Given the description of an element on the screen output the (x, y) to click on. 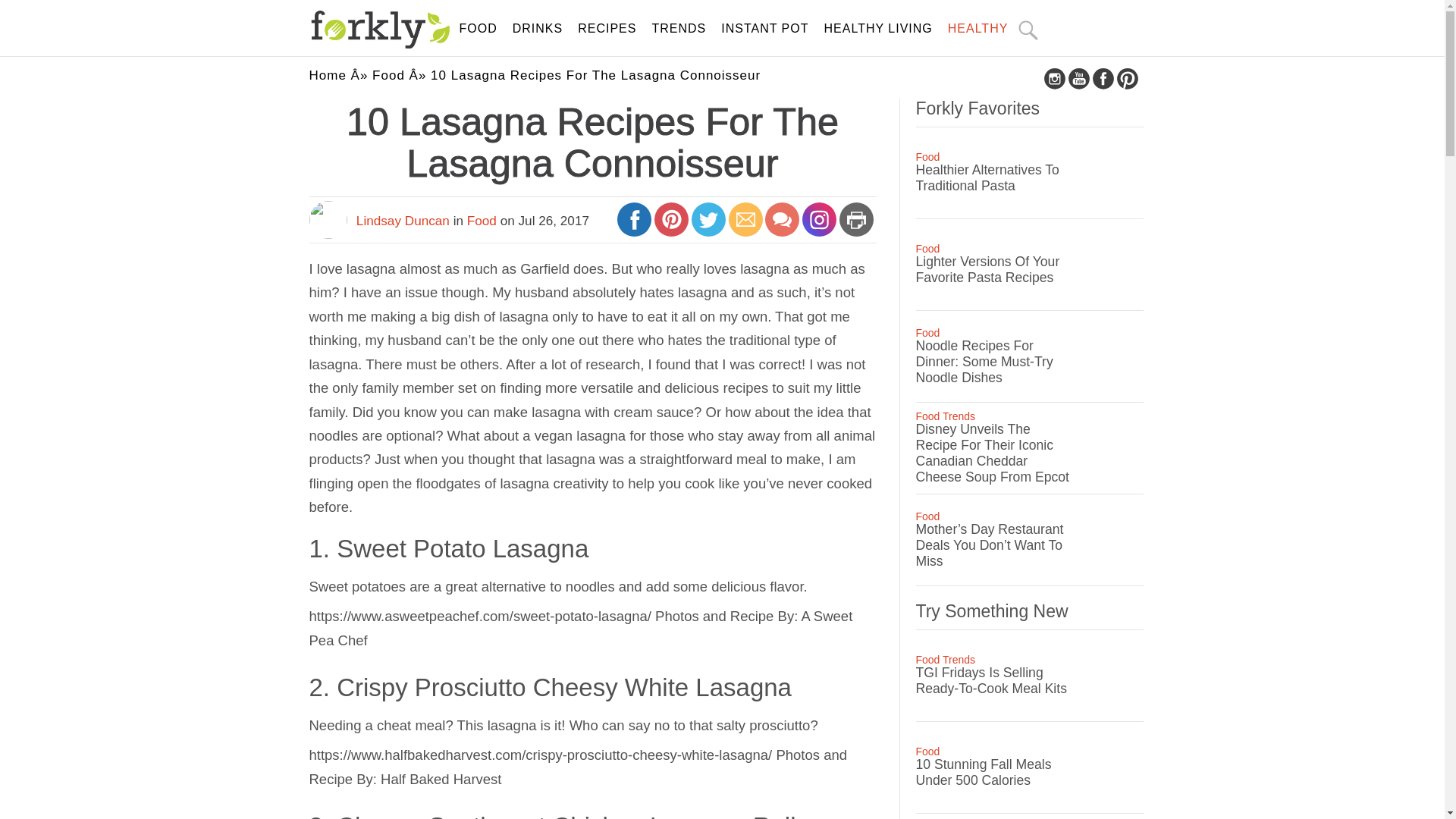
INSTANT POT (764, 28)
DRINKS (537, 28)
Posts by Lindsay Duncan (402, 220)
Share by Email (745, 226)
TRENDS (678, 28)
FOOD (478, 28)
RECIPES (607, 28)
Home (327, 74)
HEALTHY LIVING (878, 28)
